Given the description of an element on the screen output the (x, y) to click on. 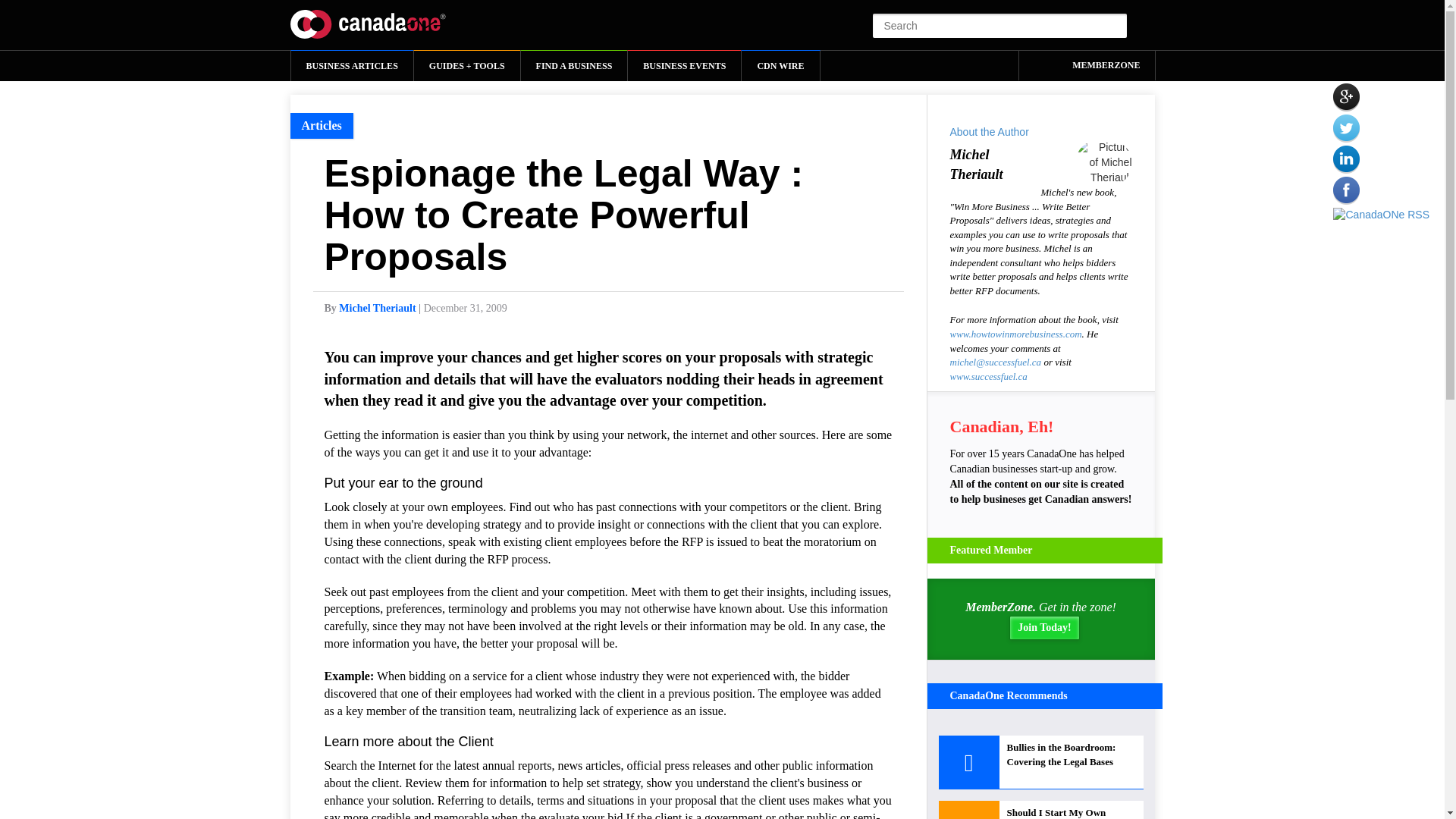
CDN WIRE (779, 65)
Should I Start My Own Company? (1040, 809)
BUSINESS EVENTS (684, 65)
BUSINESS ARTICLES (352, 65)
FIND A BUSINESS (574, 65)
Bullies in the Boardroom: Covering the Legal Bases (1040, 762)
Michel Theriault (376, 307)
MEMBERZONE (1086, 64)
